Given the description of an element on the screen output the (x, y) to click on. 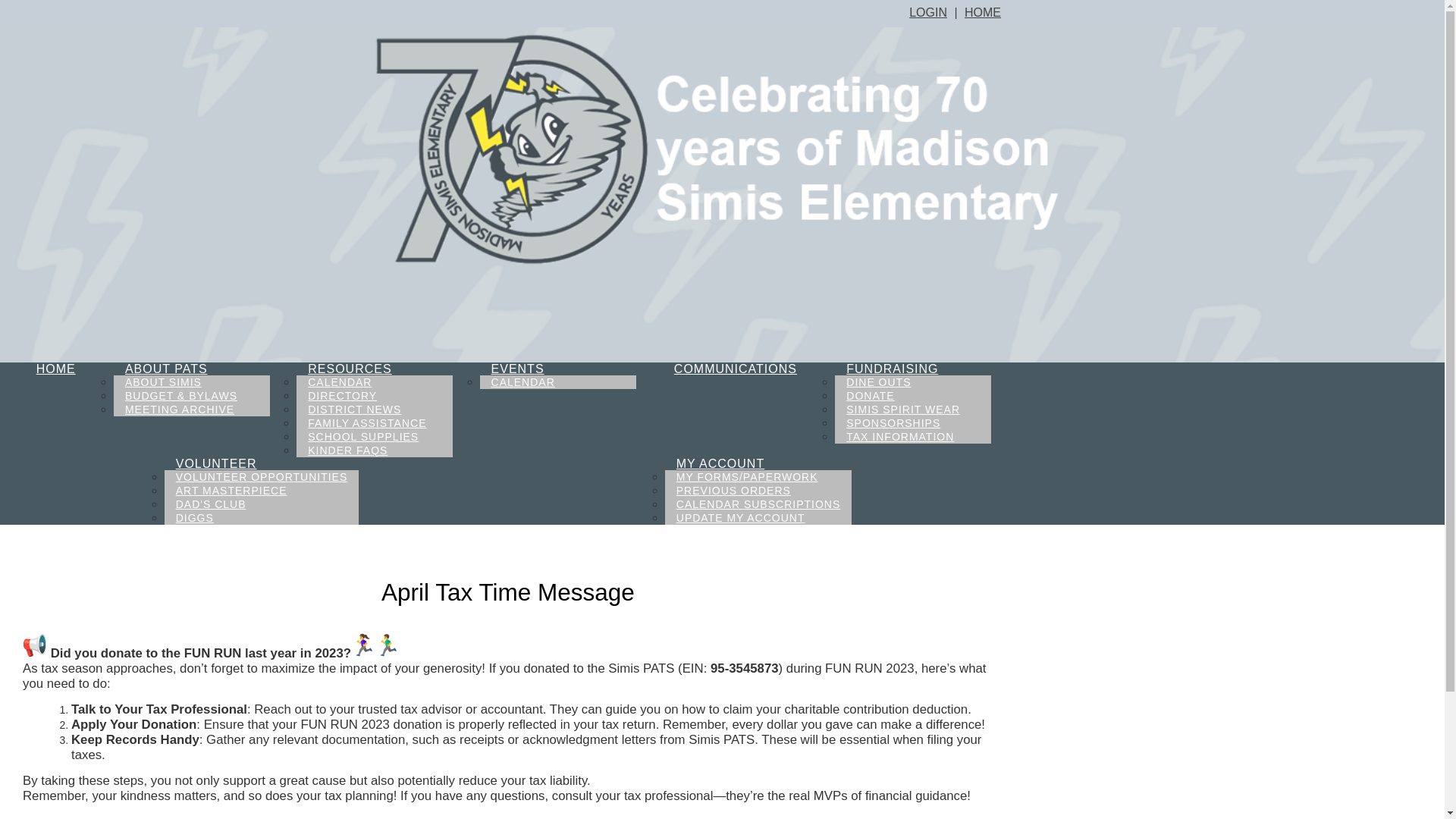
ABOUT SIMIS (162, 381)
COMMUNICATIONS (735, 368)
MEETING ARCHIVE (179, 409)
VOLUNTEER (215, 463)
DIGGS (194, 517)
CALENDAR (339, 381)
SPONSORSHIPS (893, 422)
FAMILY ASSISTANCE (367, 422)
CALENDAR SUBSCRIPTIONS (758, 503)
DISTRICT NEWS (354, 409)
